Given the description of an element on the screen output the (x, y) to click on. 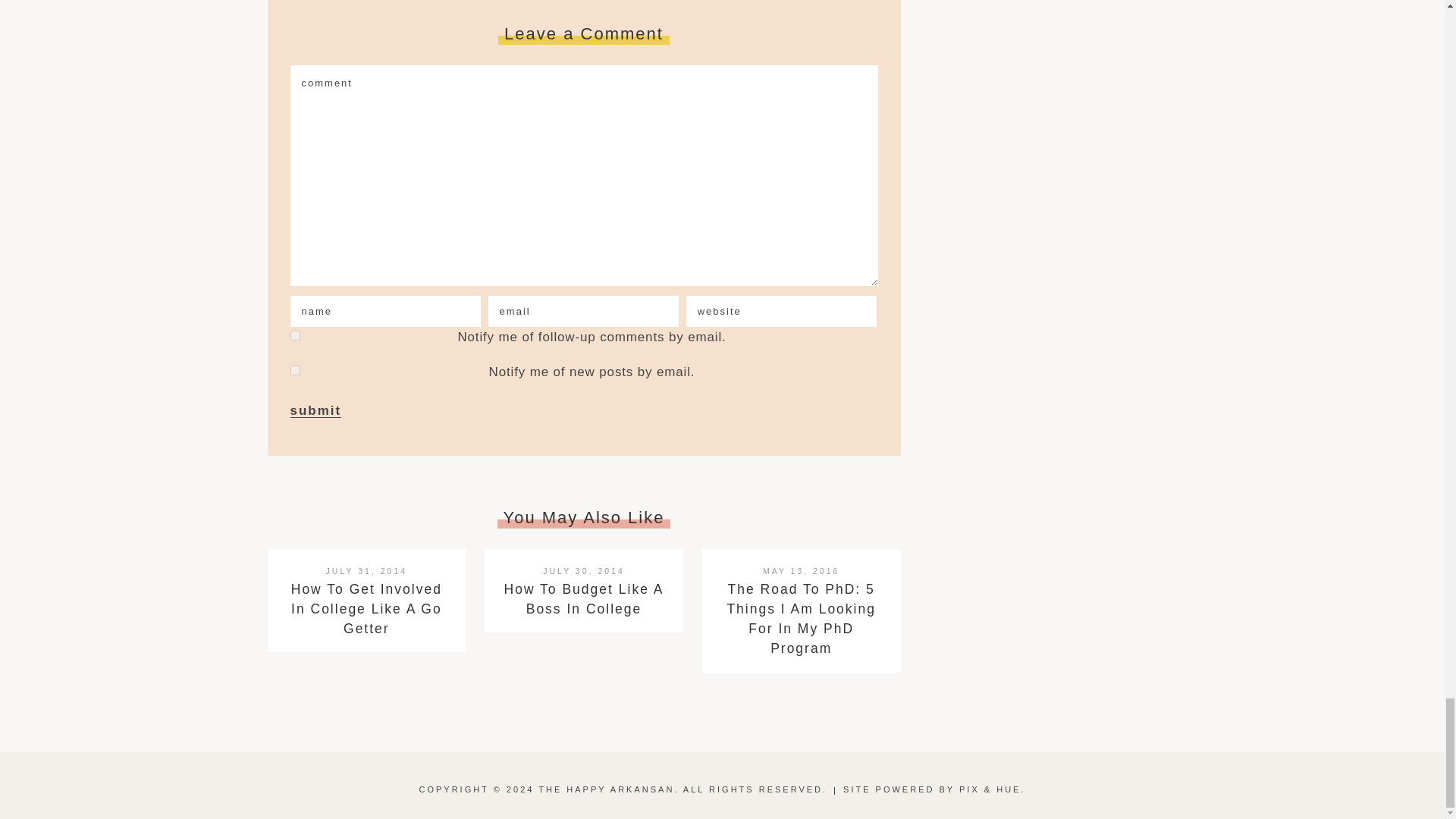
subscribe (294, 370)
subscribe (294, 335)
Submit (314, 410)
How To Get Involved In College Like A Go Getter (366, 609)
How To Budget Like A Boss In College (583, 598)
Submit (314, 410)
